Given the description of an element on the screen output the (x, y) to click on. 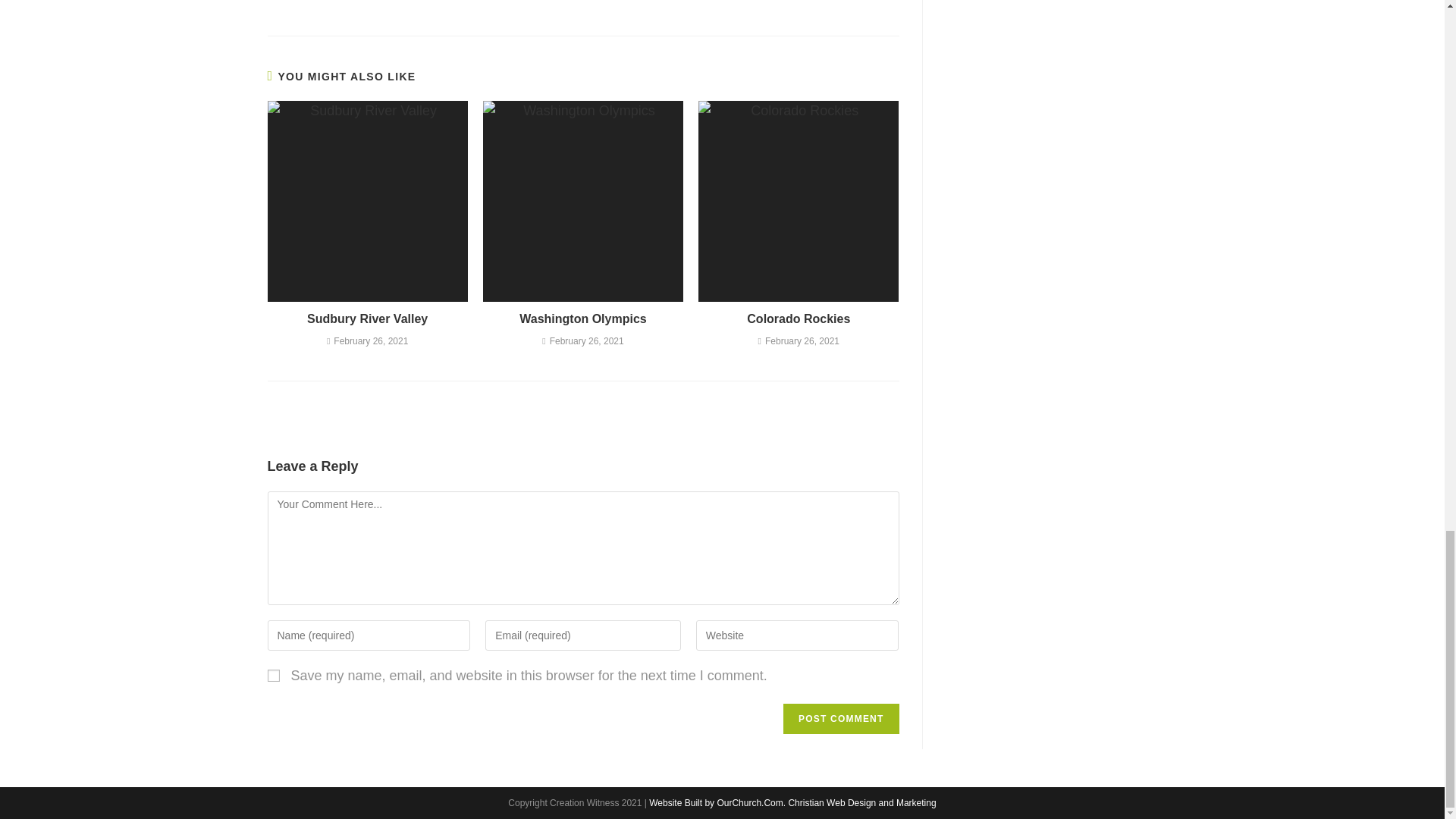
Post Comment (840, 718)
Sudbury River Valley (367, 319)
Colorado Rockies (798, 319)
Sudbury River Valley (367, 319)
Washington Olympics (583, 319)
Washington Olympics (583, 319)
and Marketing (907, 802)
Website Built by OurChurch.Com. Christian Web Design (763, 802)
yes (272, 675)
Post Comment (840, 718)
